Given the description of an element on the screen output the (x, y) to click on. 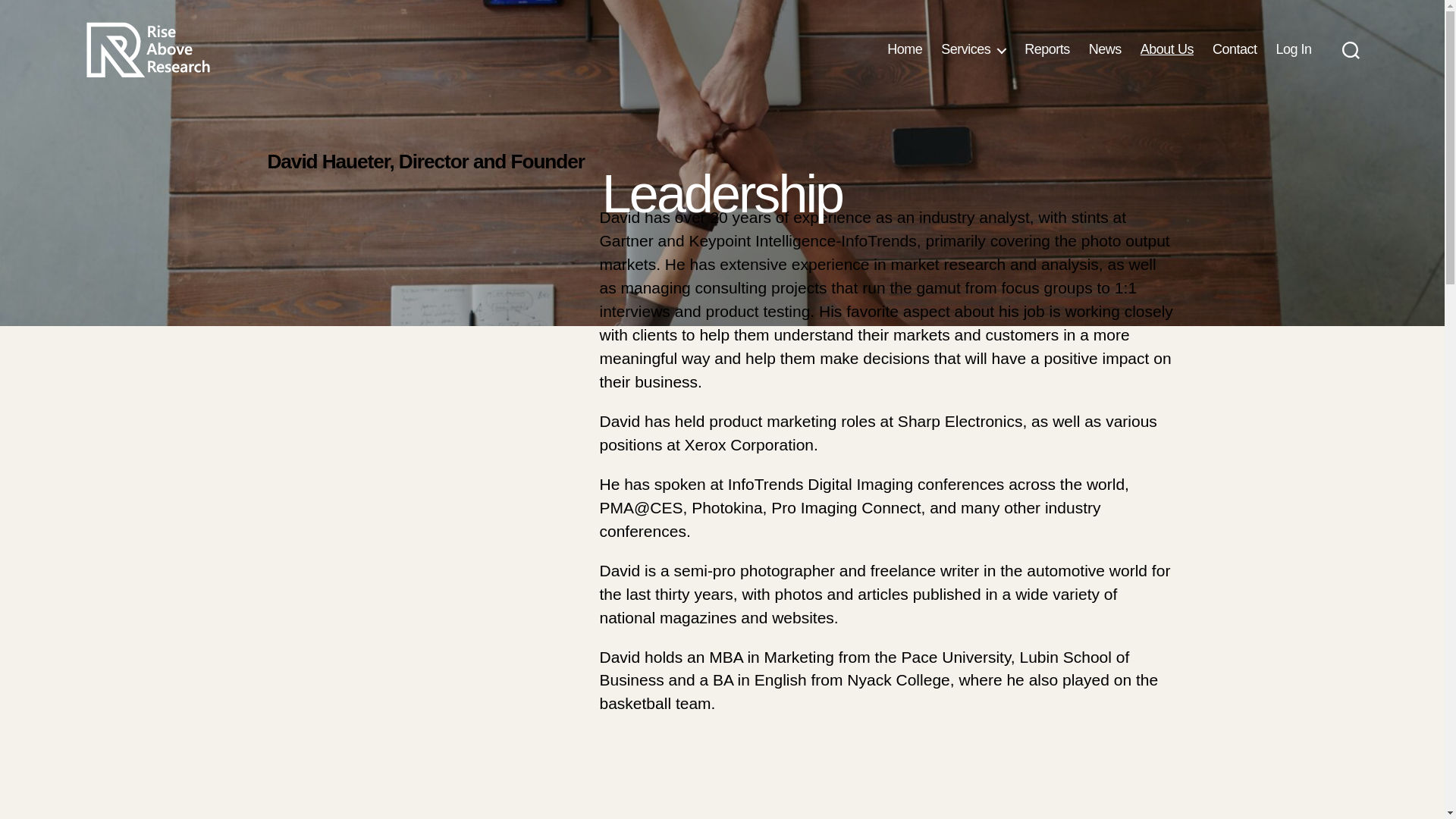
Log In (1293, 49)
Reports (1047, 49)
Contact (1234, 49)
News (1105, 49)
About Us (1166, 49)
Home (903, 49)
Services (973, 49)
